Given the description of an element on the screen output the (x, y) to click on. 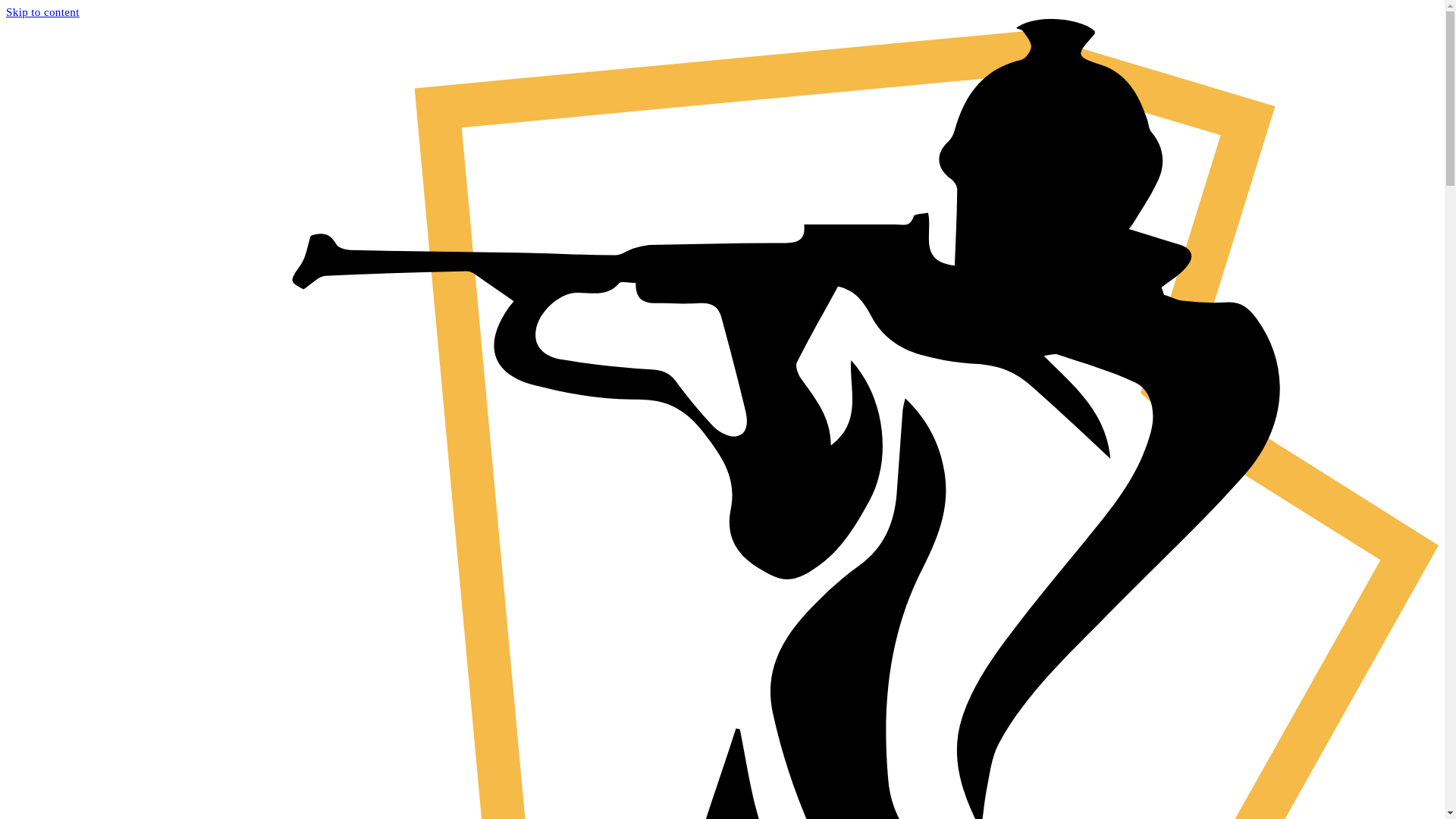
Skip to content Element type: text (42, 12)
